Given the description of an element on the screen output the (x, y) to click on. 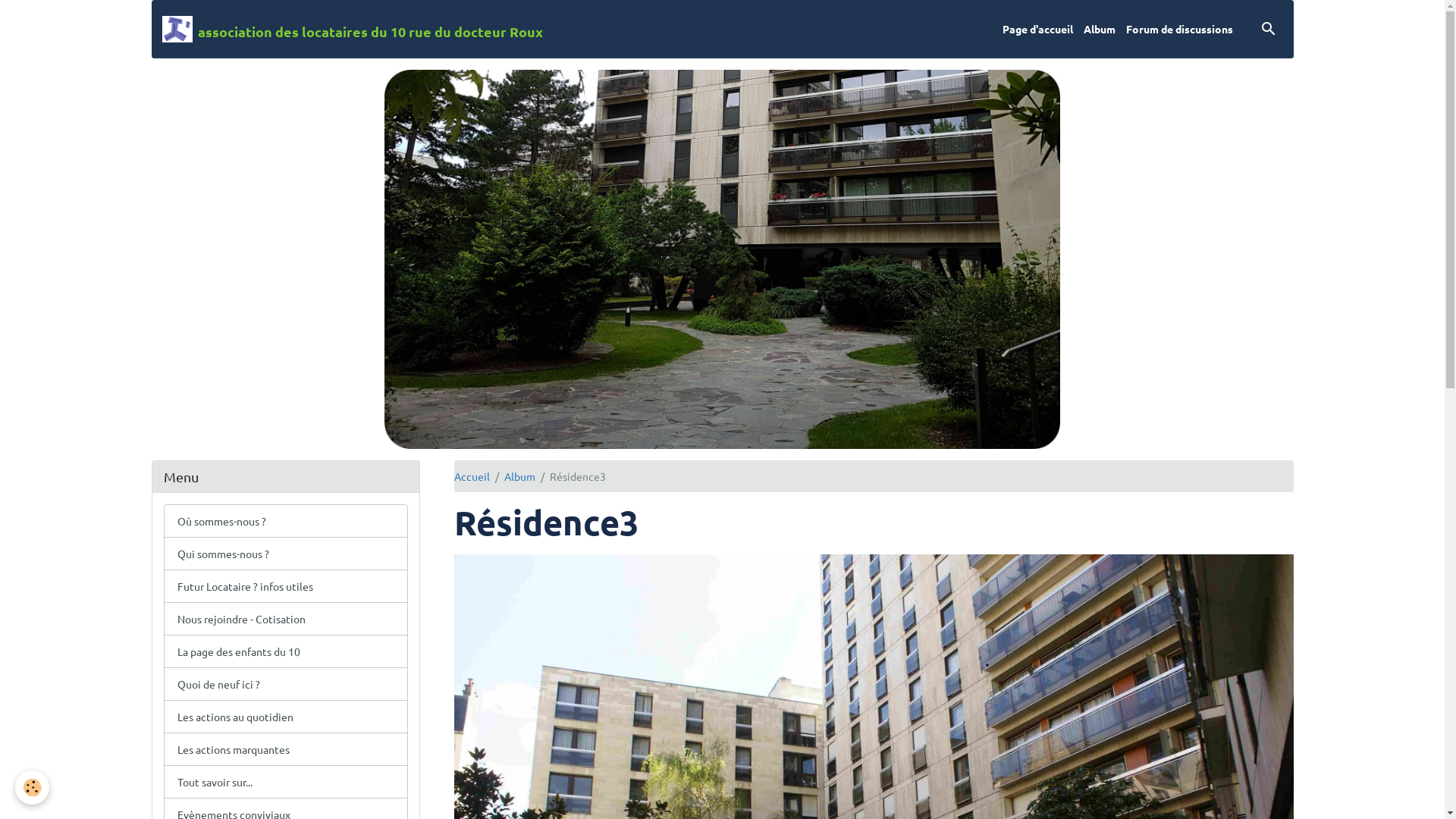
Album Element type: text (1099, 28)
Accueil Element type: text (471, 475)
Nous rejoindre - Cotisation Element type: text (285, 618)
Qui sommes-nous ? Element type: text (285, 553)
Futur Locataire ? infos utiles Element type: text (285, 585)
Les actions au quotidien Element type: text (285, 716)
Page d'accueil Element type: text (1036, 28)
association des locataires du 10 rue du docteur Roux Element type: text (352, 28)
Forum de discussions Element type: text (1179, 28)
Quoi de neuf ici ? Element type: text (285, 683)
Les actions marquantes Element type: text (285, 748)
Album Element type: text (518, 475)
La page des enfants du 10 Element type: text (285, 651)
Tout savoir sur... Element type: text (285, 781)
